Given the description of an element on the screen output the (x, y) to click on. 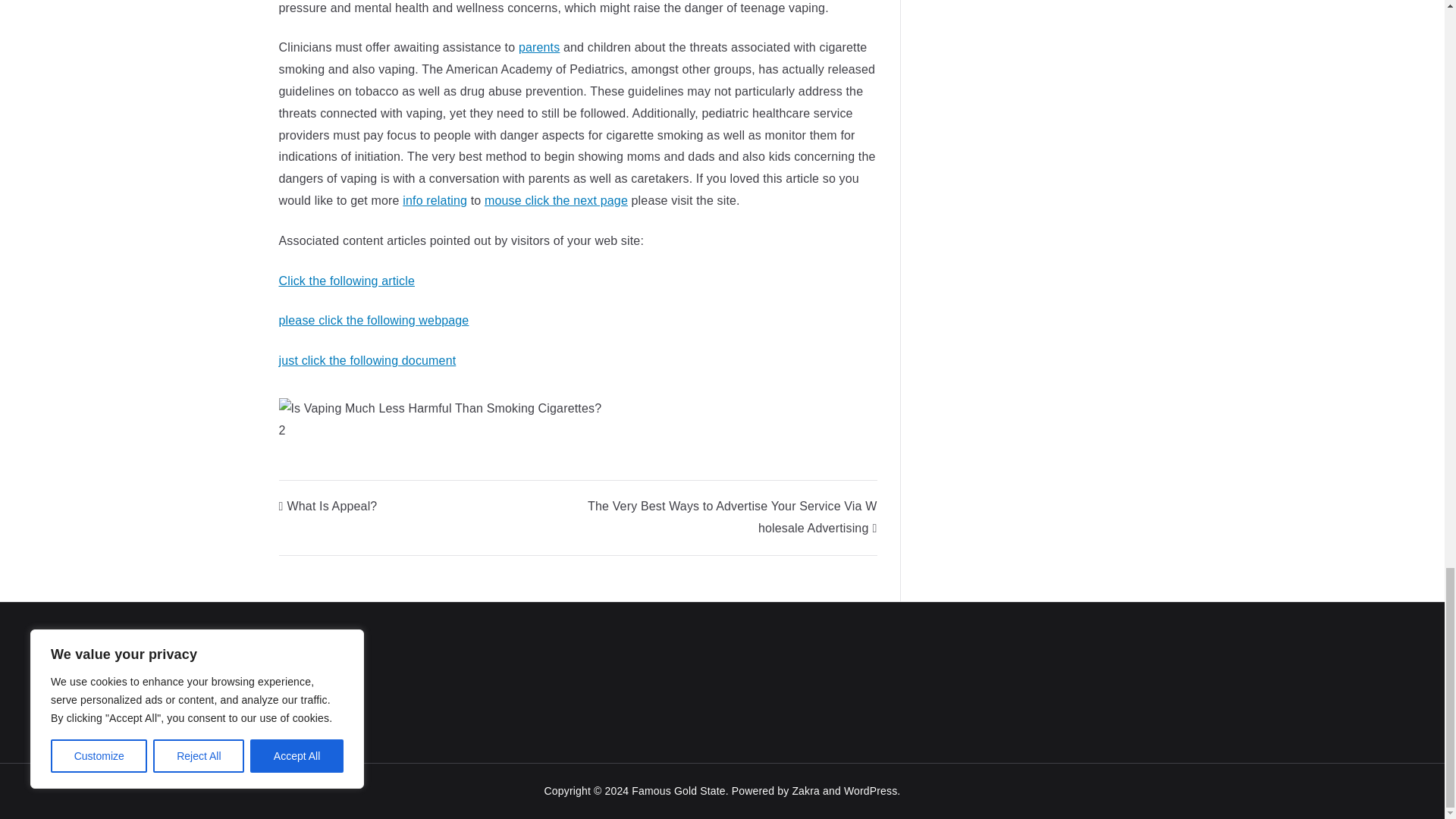
Zakra (805, 790)
mouse click the next page (555, 200)
WordPress (870, 790)
please click the following webpage (373, 319)
parents (539, 47)
info relating (435, 200)
Click the following article (346, 280)
What Is Appeal? (328, 505)
Famous Gold State (678, 790)
just click the following document (368, 359)
